Given the description of an element on the screen output the (x, y) to click on. 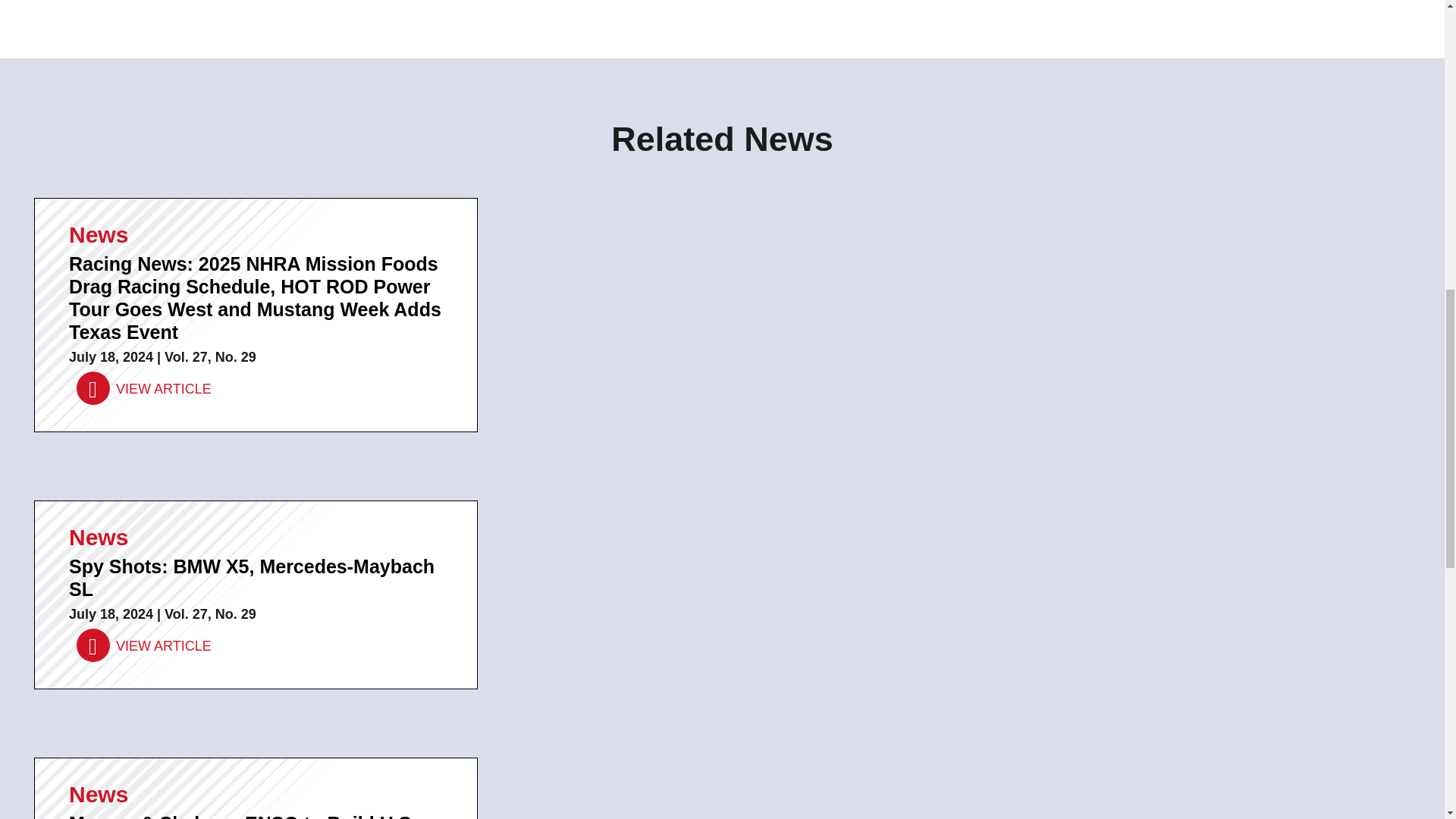
VIEW ARTICLE (143, 645)
VIEW ARTICLE (143, 388)
Spy Shots: BMW X5, Mercedes-Maybach SL (143, 645)
